Given the description of an element on the screen output the (x, y) to click on. 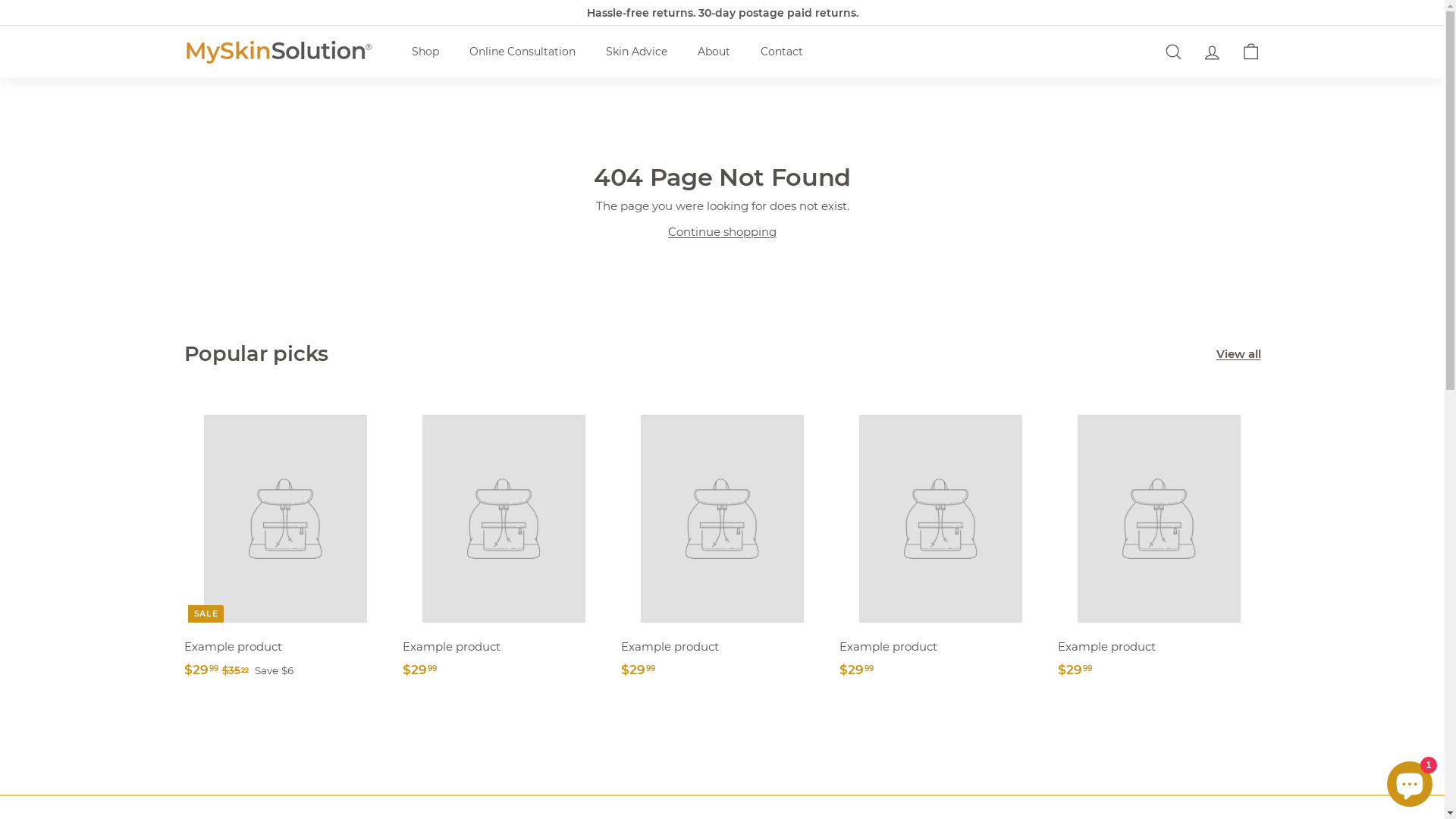
View all Element type: text (1238, 354)
Shop Element type: text (424, 51)
Account Element type: text (1211, 51)
Online Consultation Element type: text (521, 51)
SALE
Example product
$2999
$29.99
$3599
$35.99
Save $6 Element type: text (284, 544)
Skip to content Element type: text (0, 0)
Example product
$2999
$29.99 Element type: text (939, 544)
Continue shopping Element type: text (722, 231)
Shopify online store chat Element type: hover (1409, 780)
Contact Element type: text (780, 51)
Example product
$2999
$29.99 Element type: text (503, 544)
Example product
$2999
$29.99 Element type: text (1158, 544)
Example product
$2999
$29.99 Element type: text (721, 544)
Search Element type: text (1173, 51)
About Element type: text (713, 51)
Skin Advice Element type: text (635, 51)
